Given the description of an element on the screen output the (x, y) to click on. 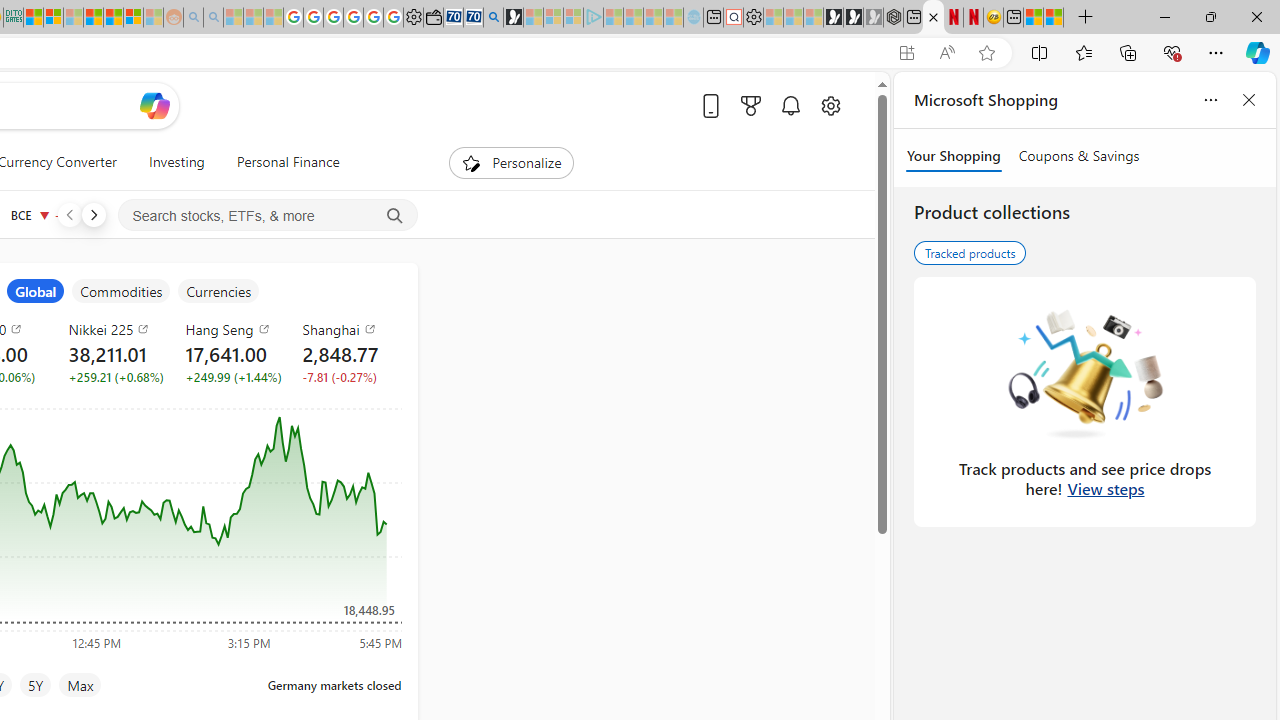
Investing (176, 162)
Microsoft rewards (749, 105)
Personal Finance (280, 162)
item3 (35, 291)
item5 (218, 291)
To get missing image descriptions, open the context menu. (471, 162)
Search stocks, ETFs, & more (267, 215)
Wildlife - MSN (1033, 17)
Wallet (432, 17)
